Given the description of an element on the screen output the (x, y) to click on. 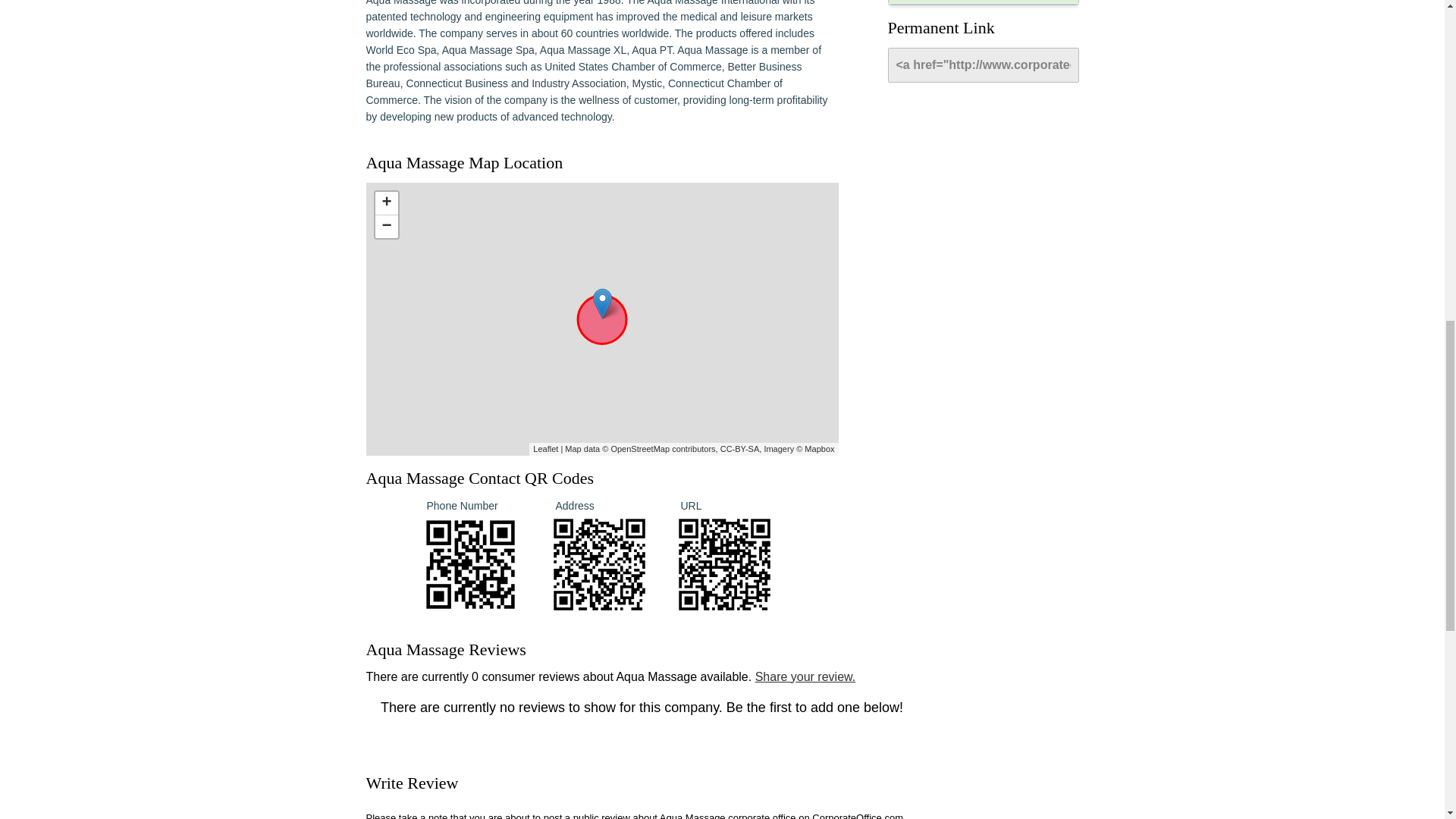
Leaflet (544, 448)
Share your review. (805, 676)
OpenStreetMap (639, 448)
Zoom out (385, 226)
A JS library for interactive maps (544, 448)
Tcim Services Inc (983, 2)
Zoom in (385, 203)
Mapbox (819, 448)
CC-BY-SA (740, 448)
